Given the description of an element on the screen output the (x, y) to click on. 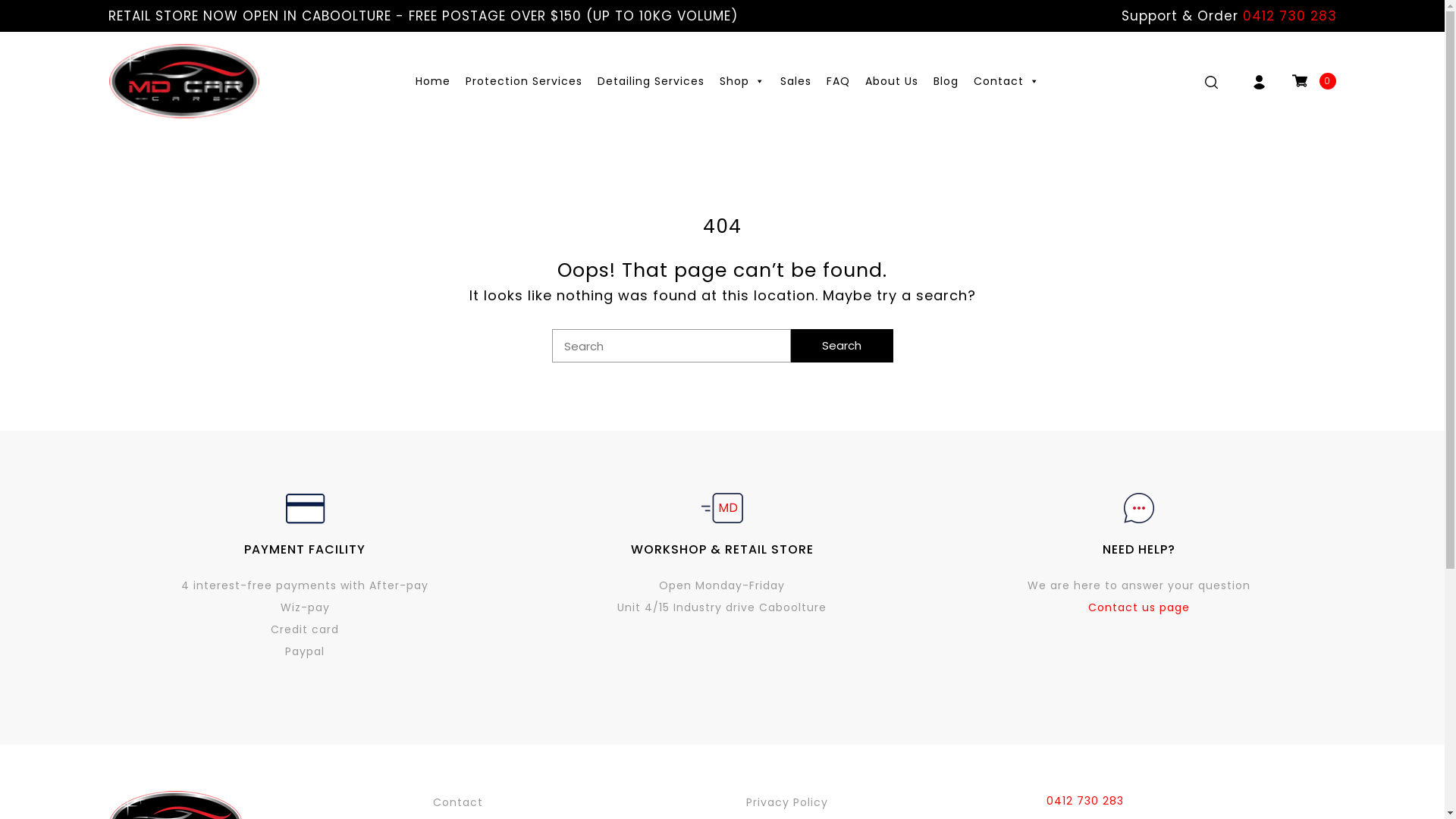
0412 730 283 Element type: text (1084, 800)
About Us Element type: text (891, 80)
Contact Element type: text (564, 802)
Detailing Services Element type: text (650, 80)
Home Element type: text (432, 80)
Protection Services Element type: text (523, 80)
Privacy Policy Element type: text (879, 802)
FAQ Element type: text (838, 80)
Shop Element type: text (742, 80)
0412 730 283 Element type: text (1289, 15)
Contact us page Element type: text (1138, 607)
Sales Element type: text (795, 80)
Search Element type: text (841, 345)
Blog Element type: text (945, 80)
Contact Element type: text (1006, 80)
